Given the description of an element on the screen output the (x, y) to click on. 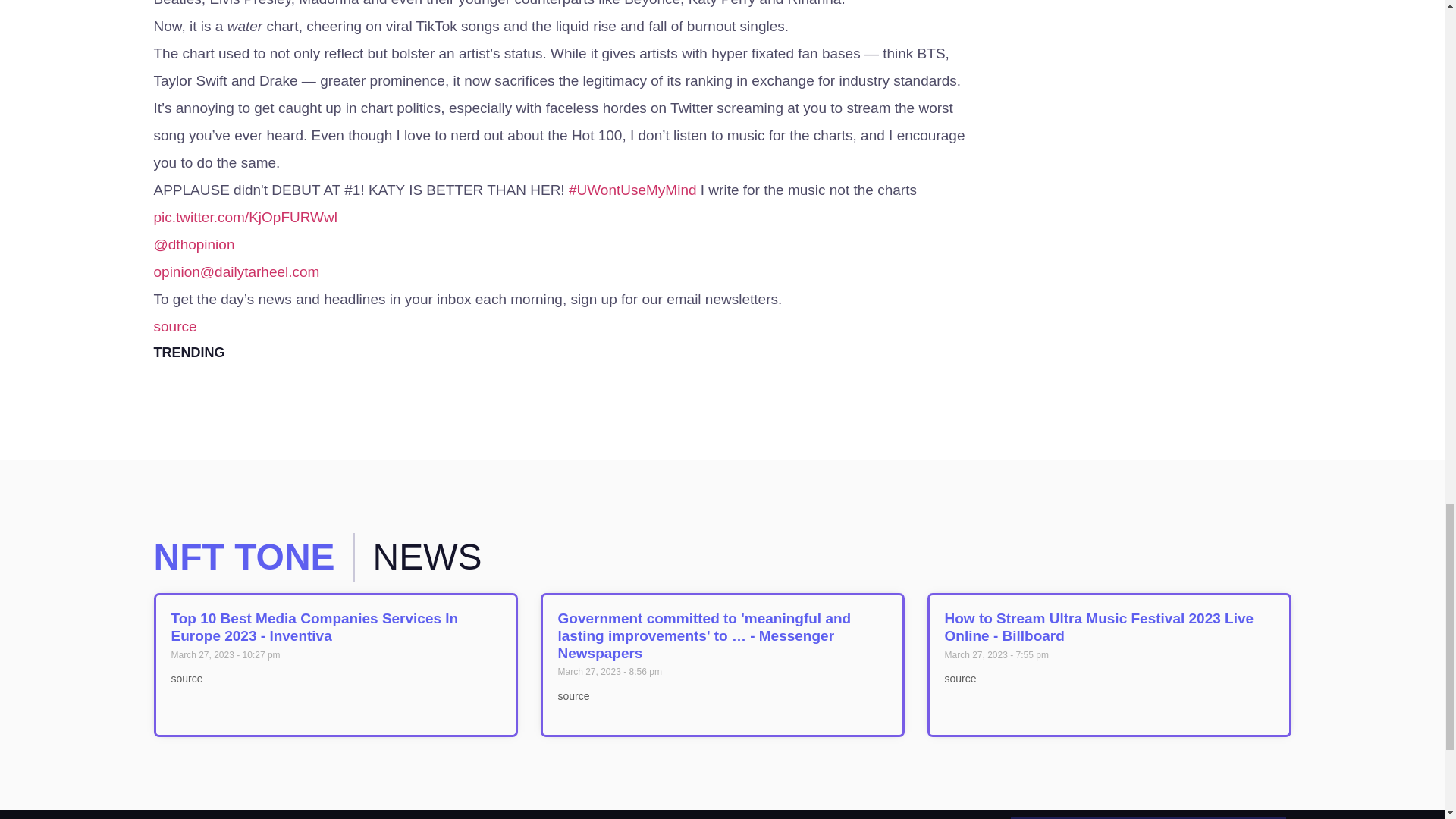
source (174, 326)
